Given the description of an element on the screen output the (x, y) to click on. 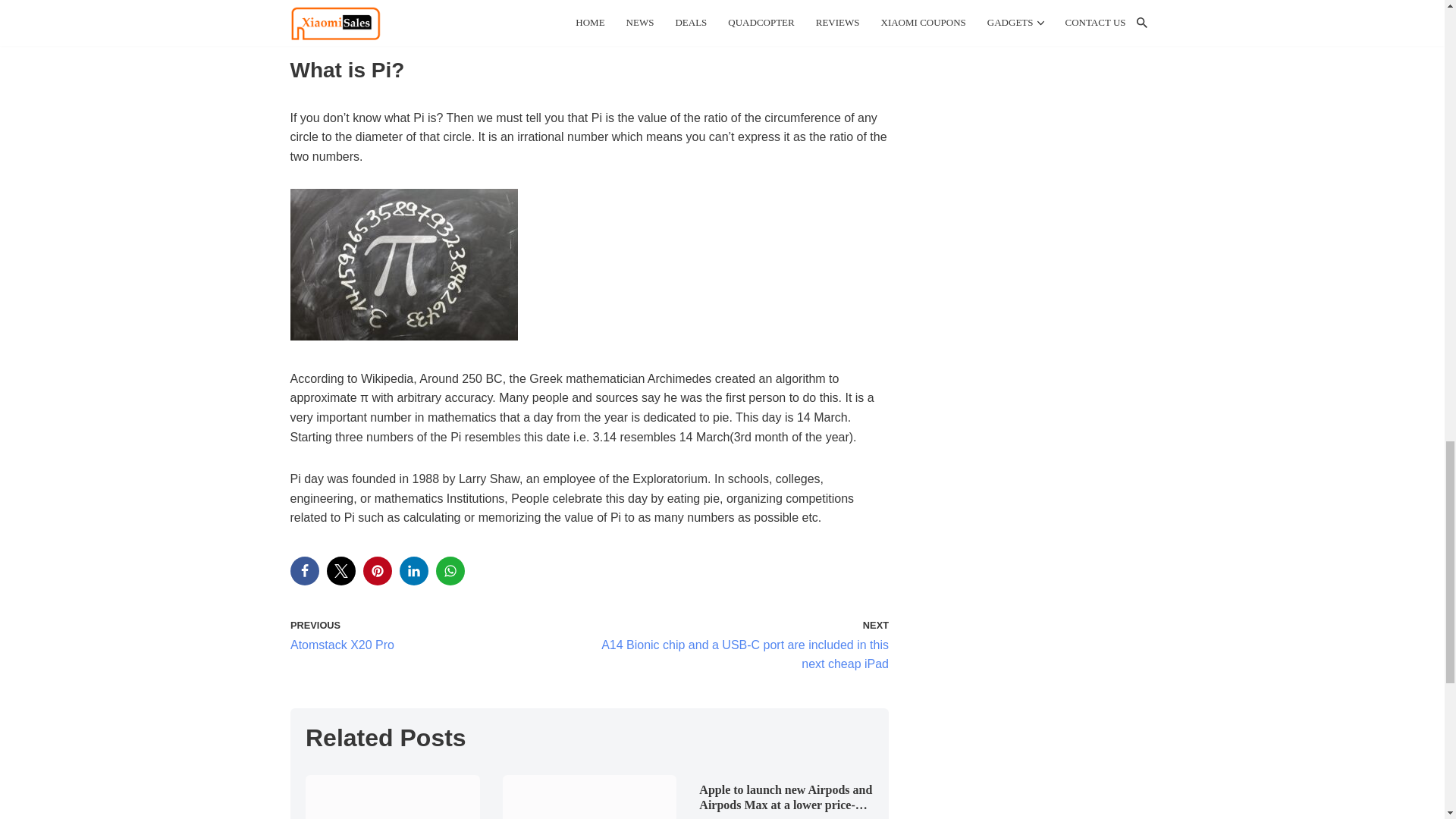
Pinterest (376, 570)
Facebook (303, 570)
X (340, 570)
